Given the description of an element on the screen output the (x, y) to click on. 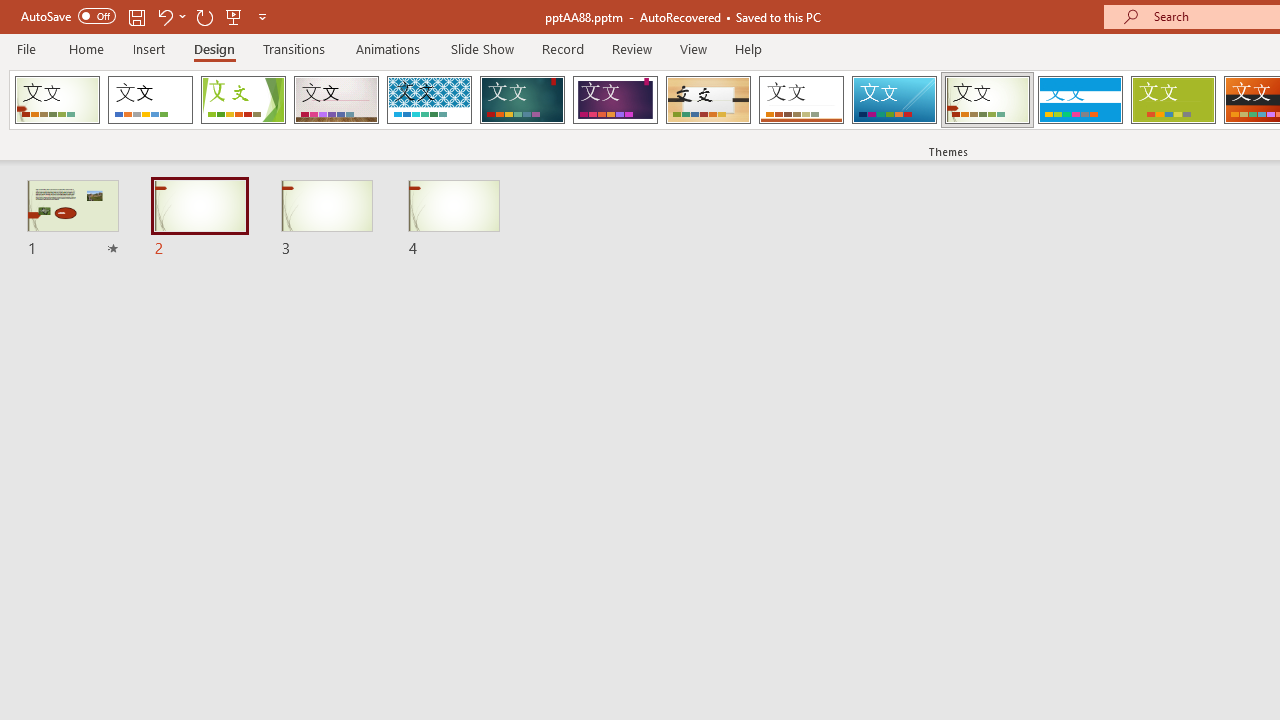
Gallery (336, 100)
LimelightVTI (57, 100)
Ion Loading Preview... (522, 100)
Ion Boardroom Loading Preview... (615, 100)
Integral Loading Preview... (429, 100)
Slice Loading Preview... (893, 100)
Wisp Loading Preview... (987, 100)
Basis Loading Preview... (1172, 100)
